Given the description of an element on the screen output the (x, y) to click on. 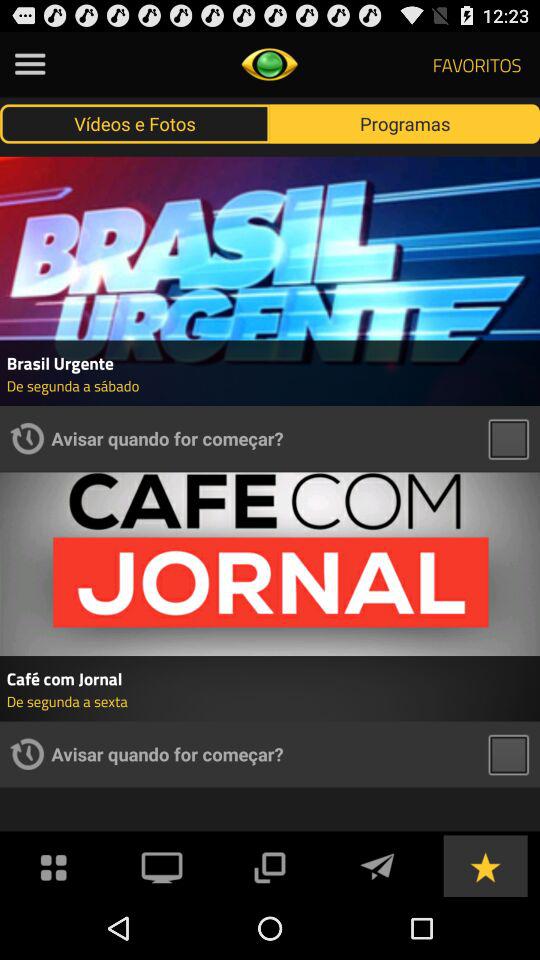
turn off programas button (405, 123)
